Given the description of an element on the screen output the (x, y) to click on. 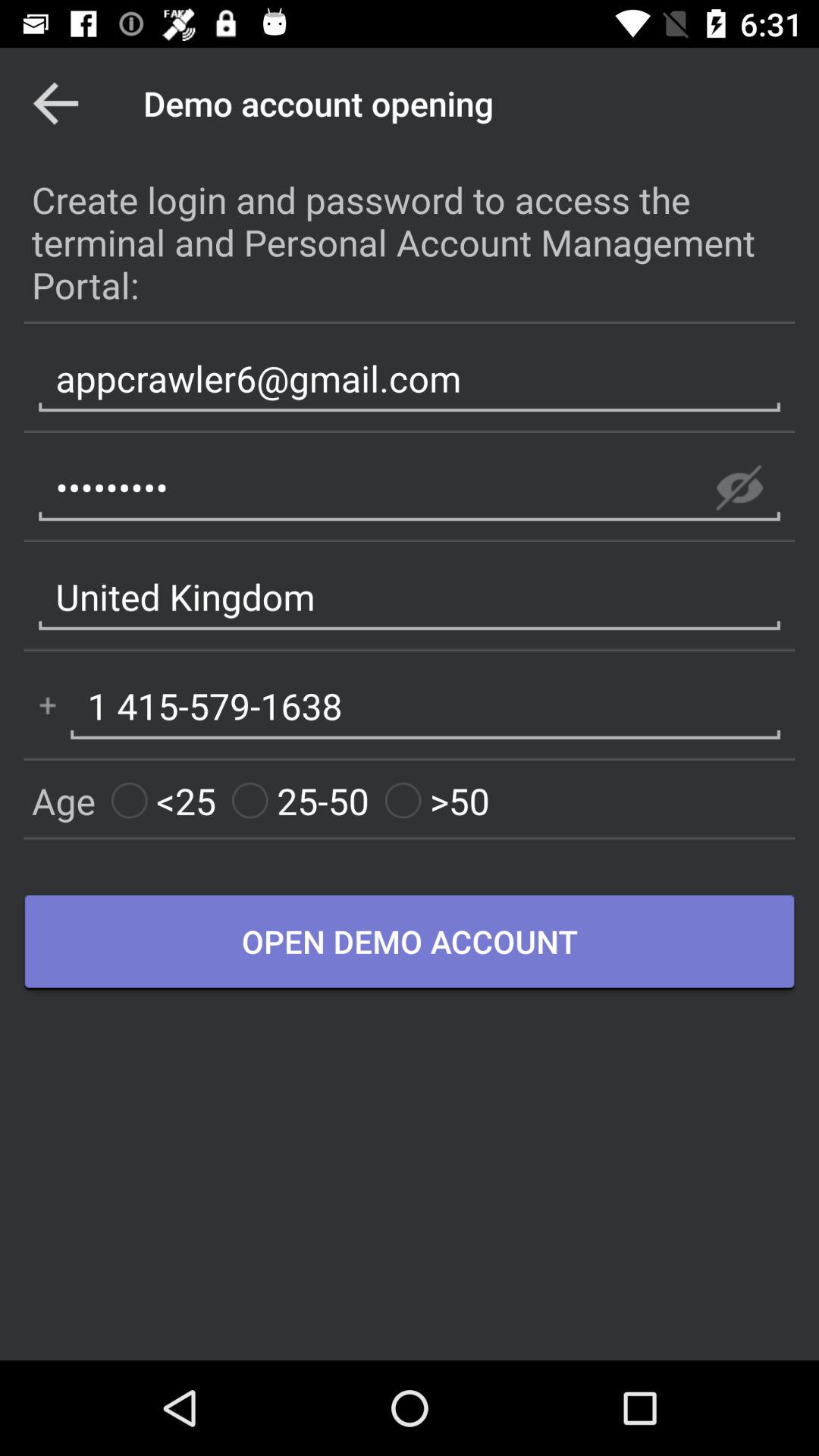
turn off icon above the open demo account (300, 800)
